Given the description of an element on the screen output the (x, y) to click on. 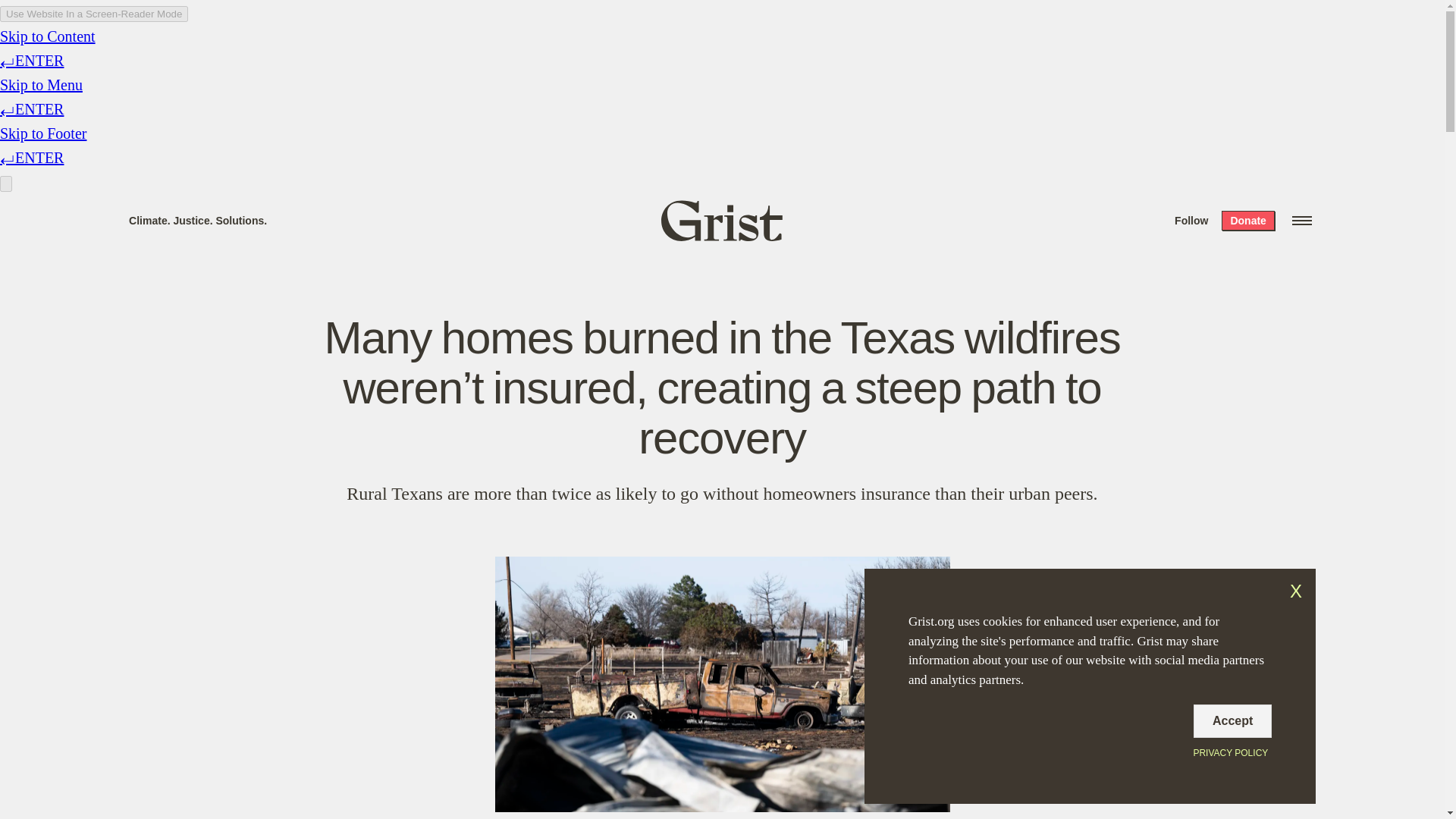
Follow (1191, 220)
Donate (1247, 220)
Grist home (722, 219)
Search (227, 18)
Accept (1232, 720)
